Given the description of an element on the screen output the (x, y) to click on. 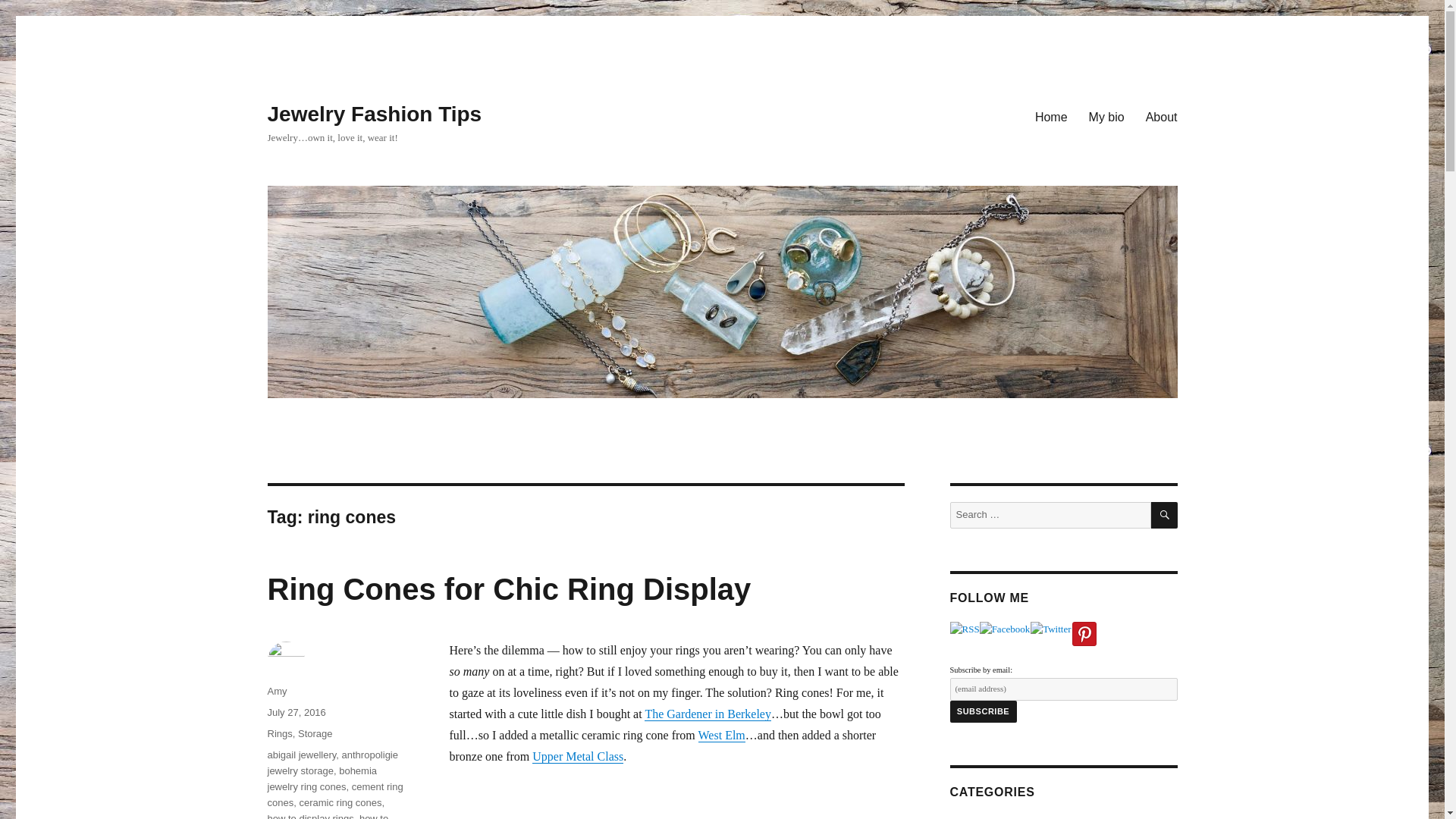
Subscribe (982, 712)
anthropoligie jewelry storage (331, 762)
Home (1051, 116)
Amy (276, 690)
Ring Cones for Chic Ring Display (508, 589)
West Elm (721, 735)
July 27, 2016 (295, 712)
Jewelry Fashion Tips (373, 114)
how to display rings (309, 816)
cement ring cones (334, 794)
